Given the description of an element on the screen output the (x, y) to click on. 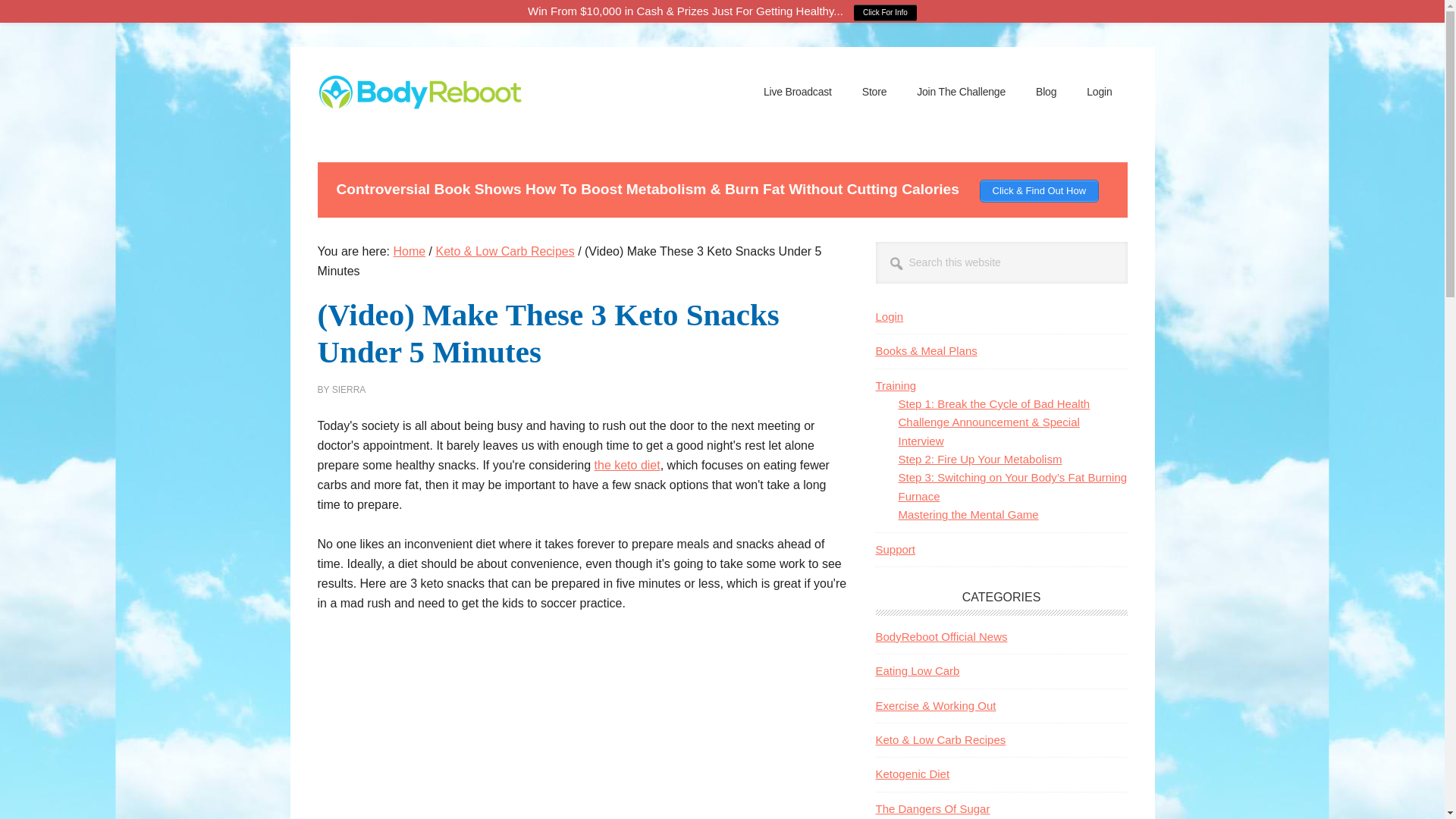
Training (895, 385)
BODY REBOOT (419, 104)
Blog (1045, 90)
Login (888, 316)
Eating Low Carb (917, 670)
Mastering the Mental Game (968, 513)
Ketogenic Diet (912, 773)
Login (1098, 90)
Join The Challenge (960, 90)
